Given the description of an element on the screen output the (x, y) to click on. 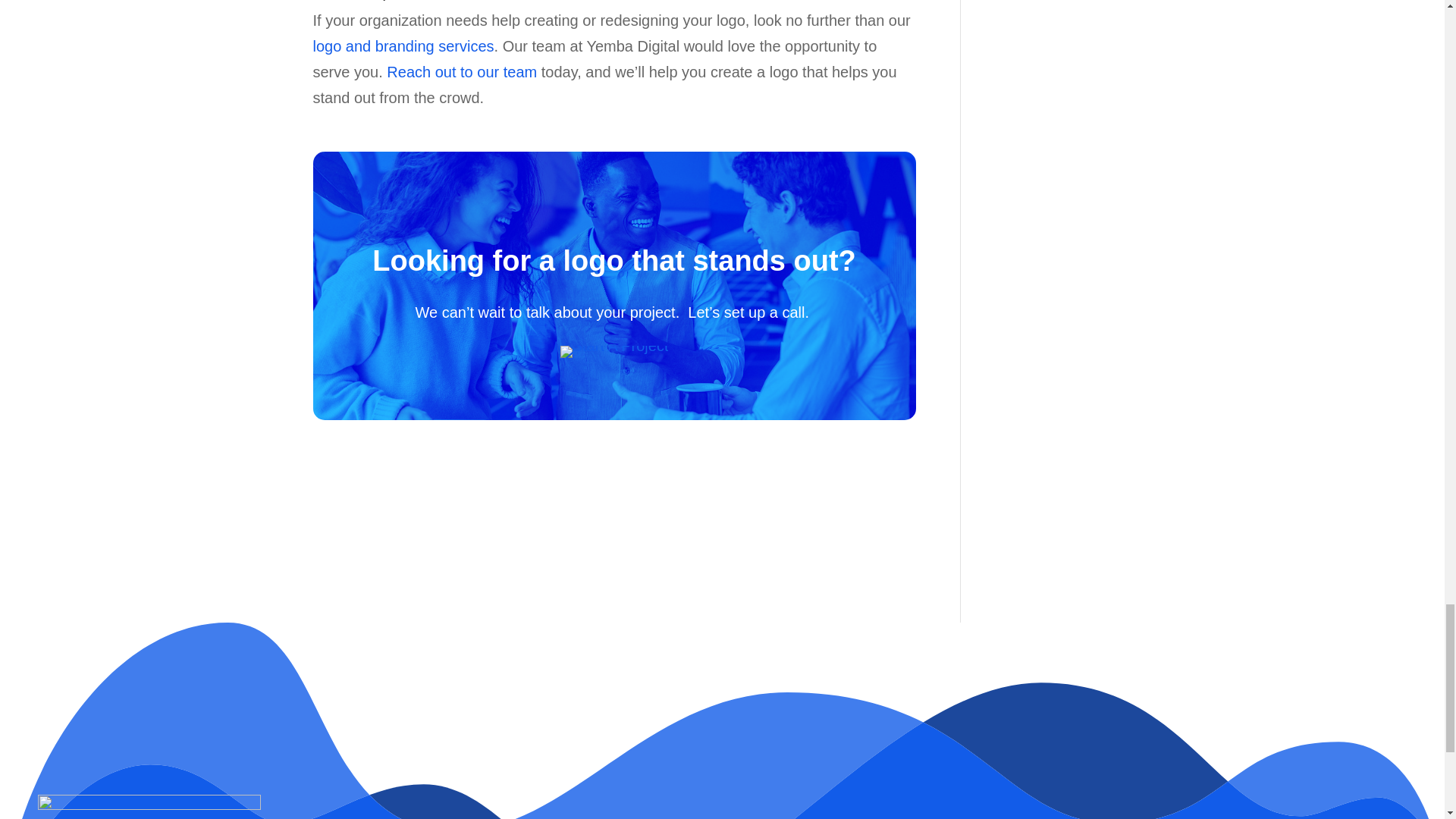
logo and branding services (403, 45)
YembaDigital white logo (148, 806)
Reach out to our team (462, 71)
START A PROJECT button (614, 351)
